Given the description of an element on the screen output the (x, y) to click on. 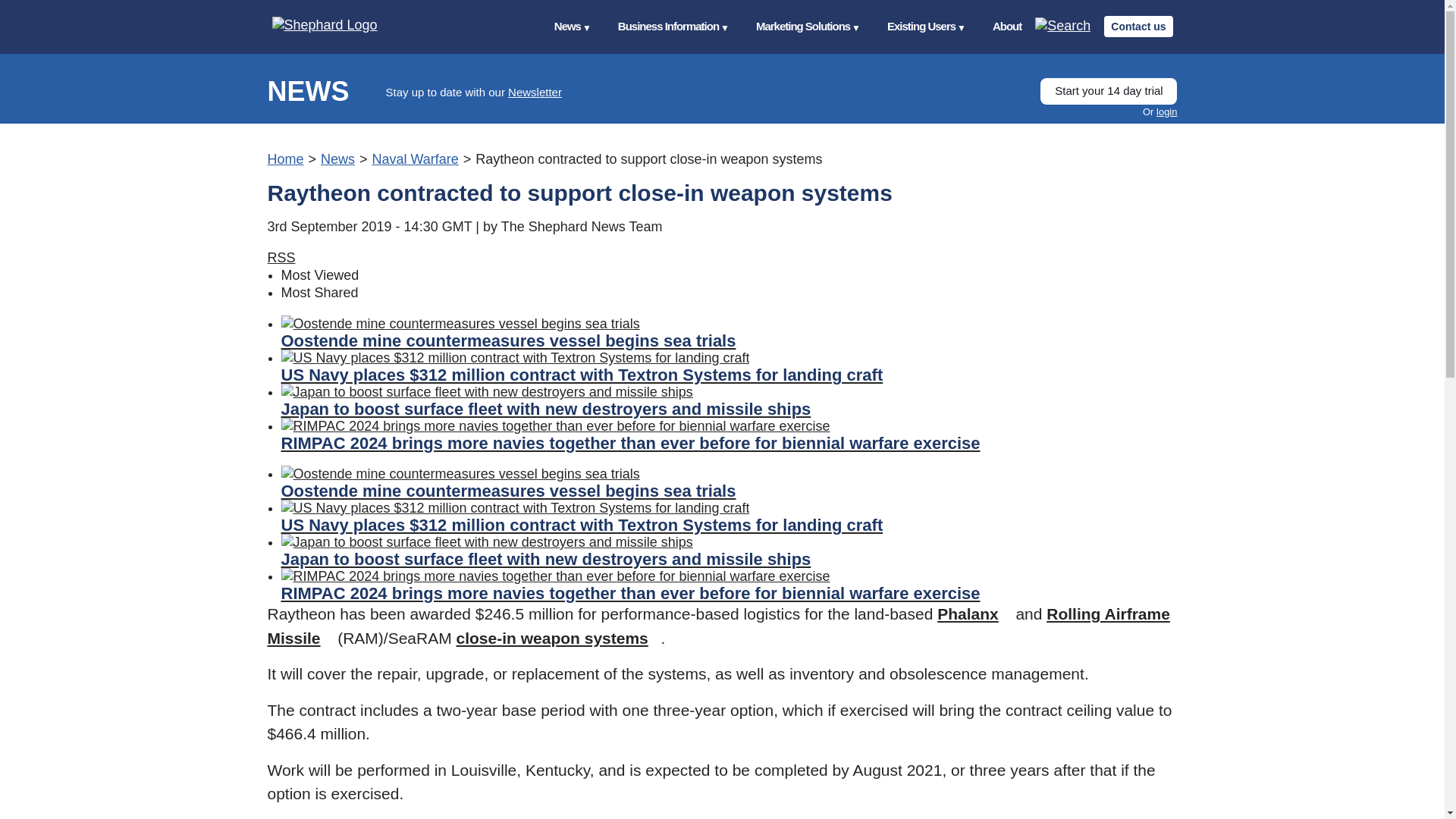
Newsletter (535, 91)
About (1006, 27)
Contact us (1137, 25)
Start a trial subscription (1108, 90)
Start your 14 day trial (1108, 90)
Naval Warfare RSS Feed (280, 257)
login (1166, 111)
Oostende mine countermeasures vessel begins sea trials (728, 332)
Shephard (338, 26)
Login (1166, 111)
Naval Warfare (414, 159)
